Given the description of an element on the screen output the (x, y) to click on. 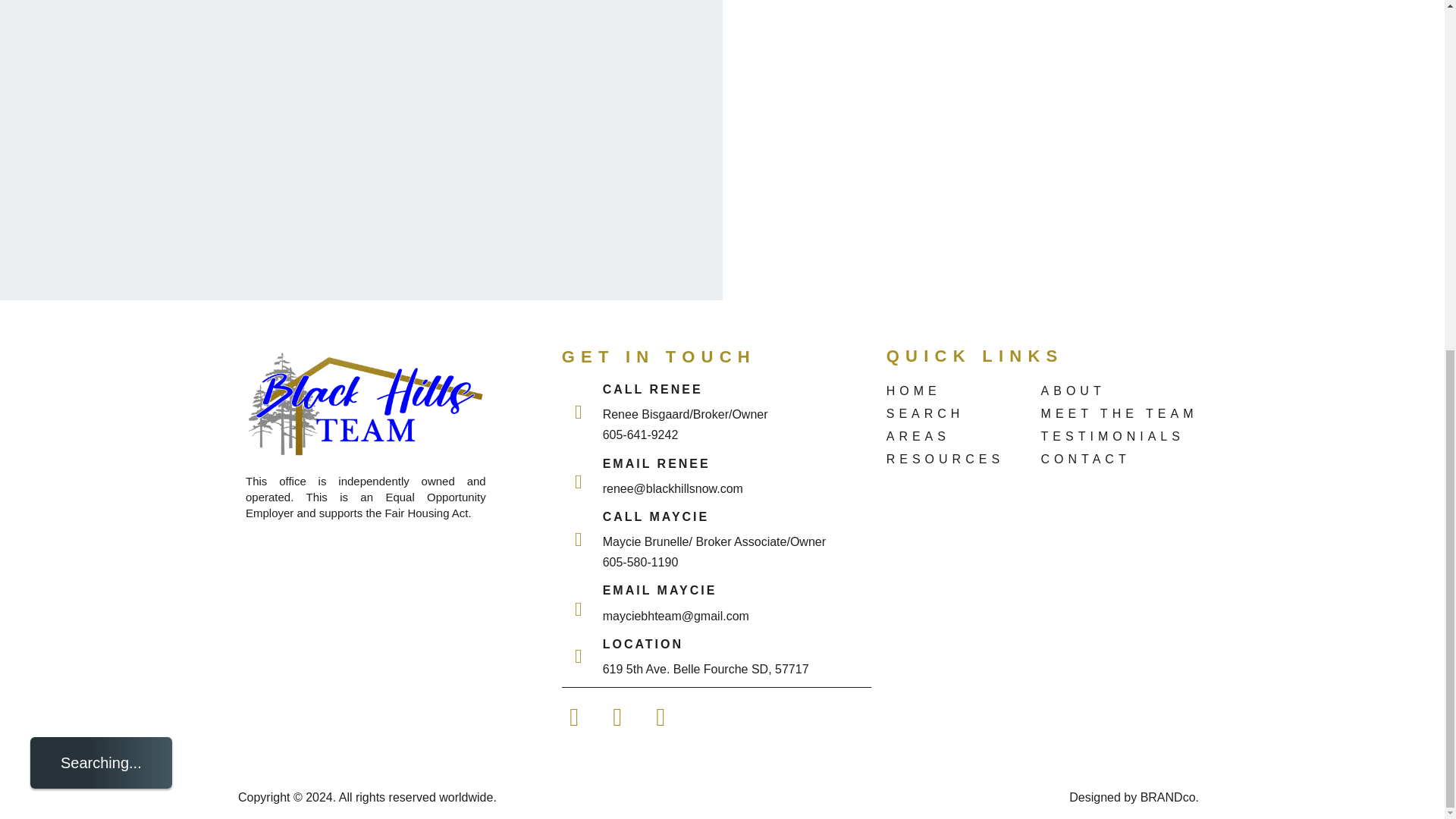
CALL MAYCIE (656, 516)
EMAIL RENEE (656, 463)
EMAIL MAYCIE (659, 590)
CALL RENEE (652, 389)
